Given the description of an element on the screen output the (x, y) to click on. 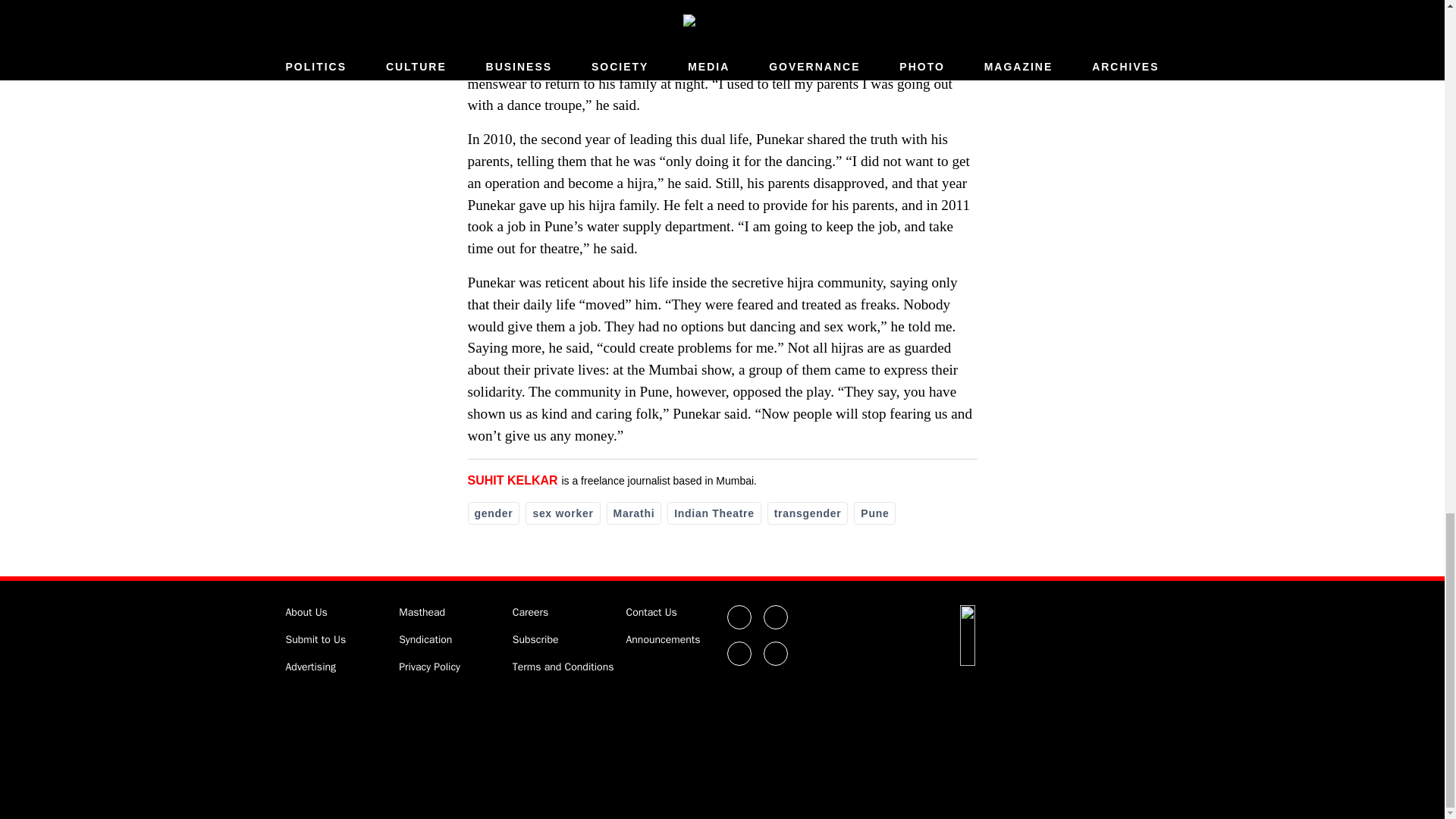
transgender (807, 513)
Indian Theatre (713, 513)
About Us (305, 612)
Careers (530, 612)
Terms and Conditions (563, 666)
Masthead (421, 612)
Advertising (310, 666)
Privacy Policy (429, 666)
Pune (874, 513)
Marathi (634, 513)
